Given the description of an element on the screen output the (x, y) to click on. 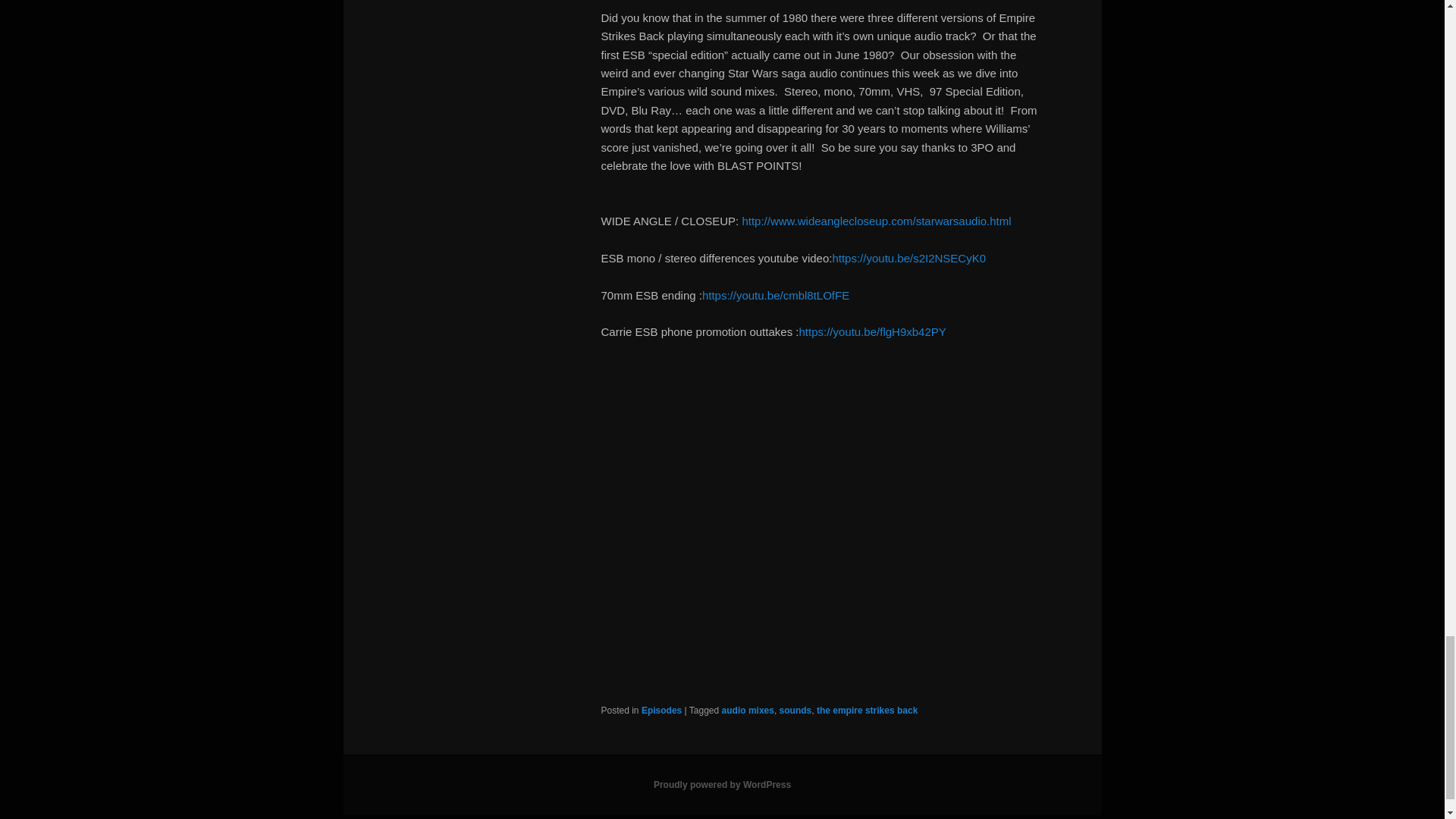
sounds (795, 710)
Semantic Personal Publishing Platform (721, 784)
audio mixes (748, 710)
Episodes (661, 710)
the empire strikes back (866, 710)
